Given the description of an element on the screen output the (x, y) to click on. 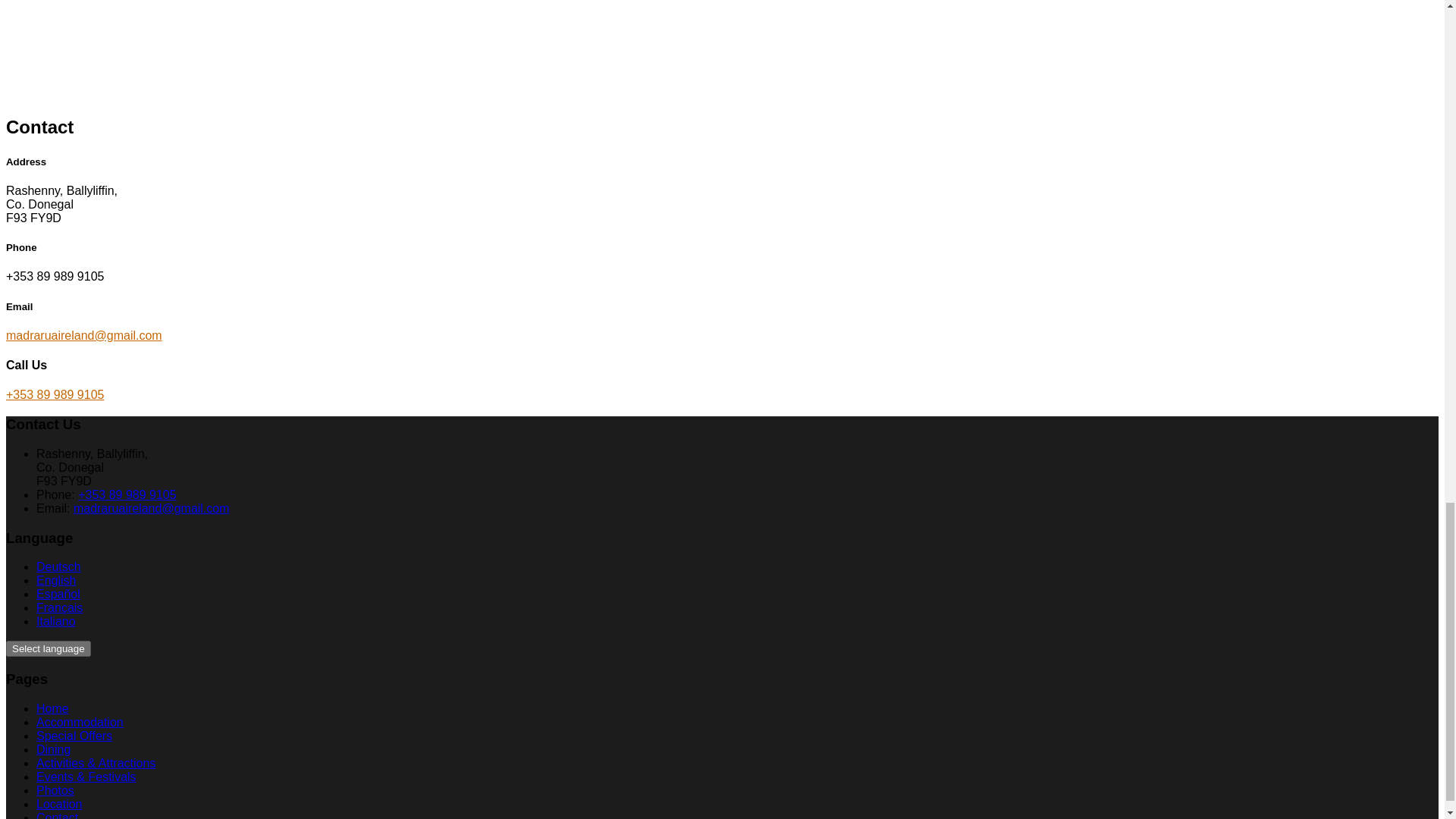
Italiano (55, 621)
Deutsch (58, 566)
English (55, 580)
